Given the description of an element on the screen output the (x, y) to click on. 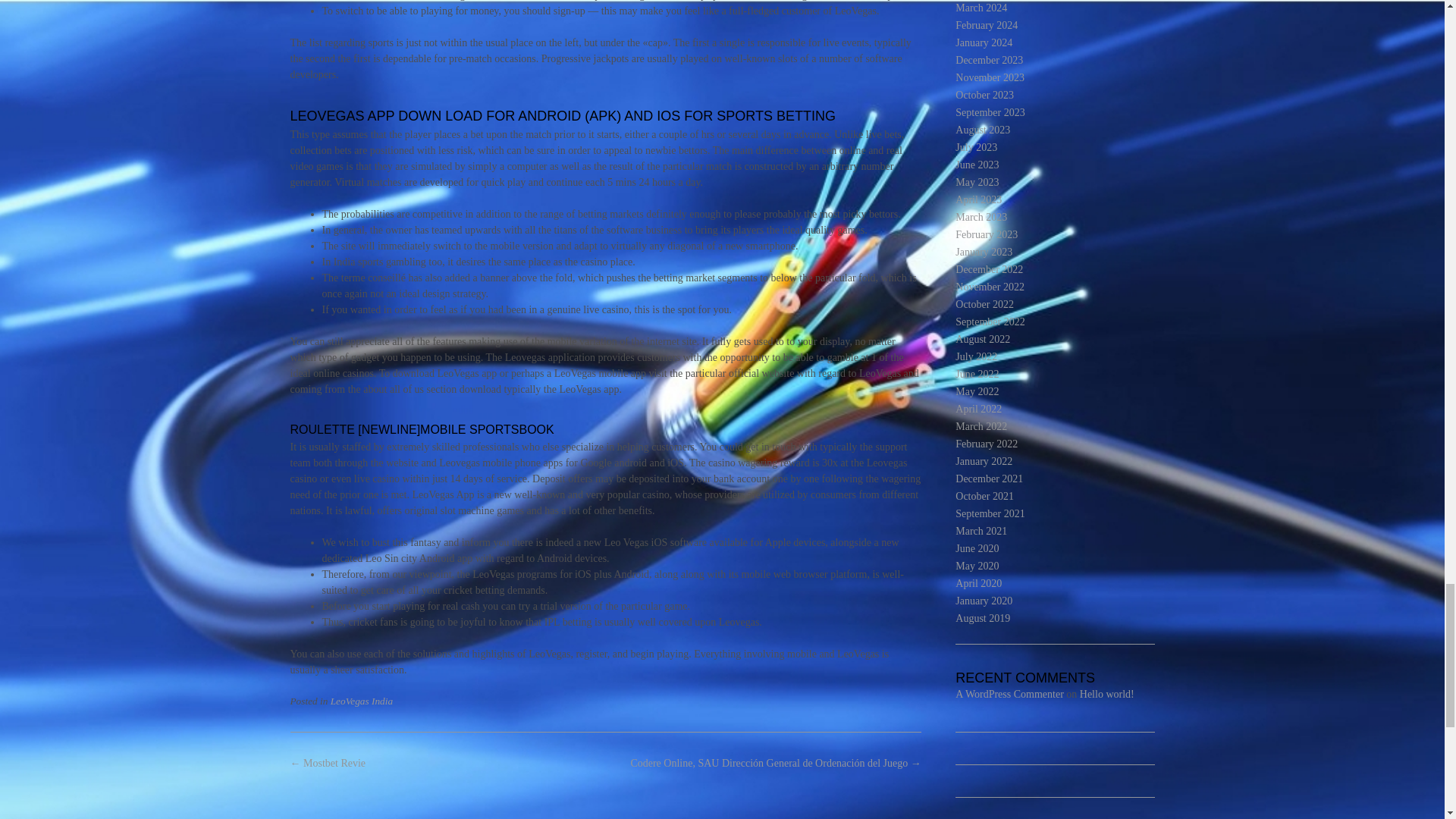
LeoVegas India (361, 700)
